Given the description of an element on the screen output the (x, y) to click on. 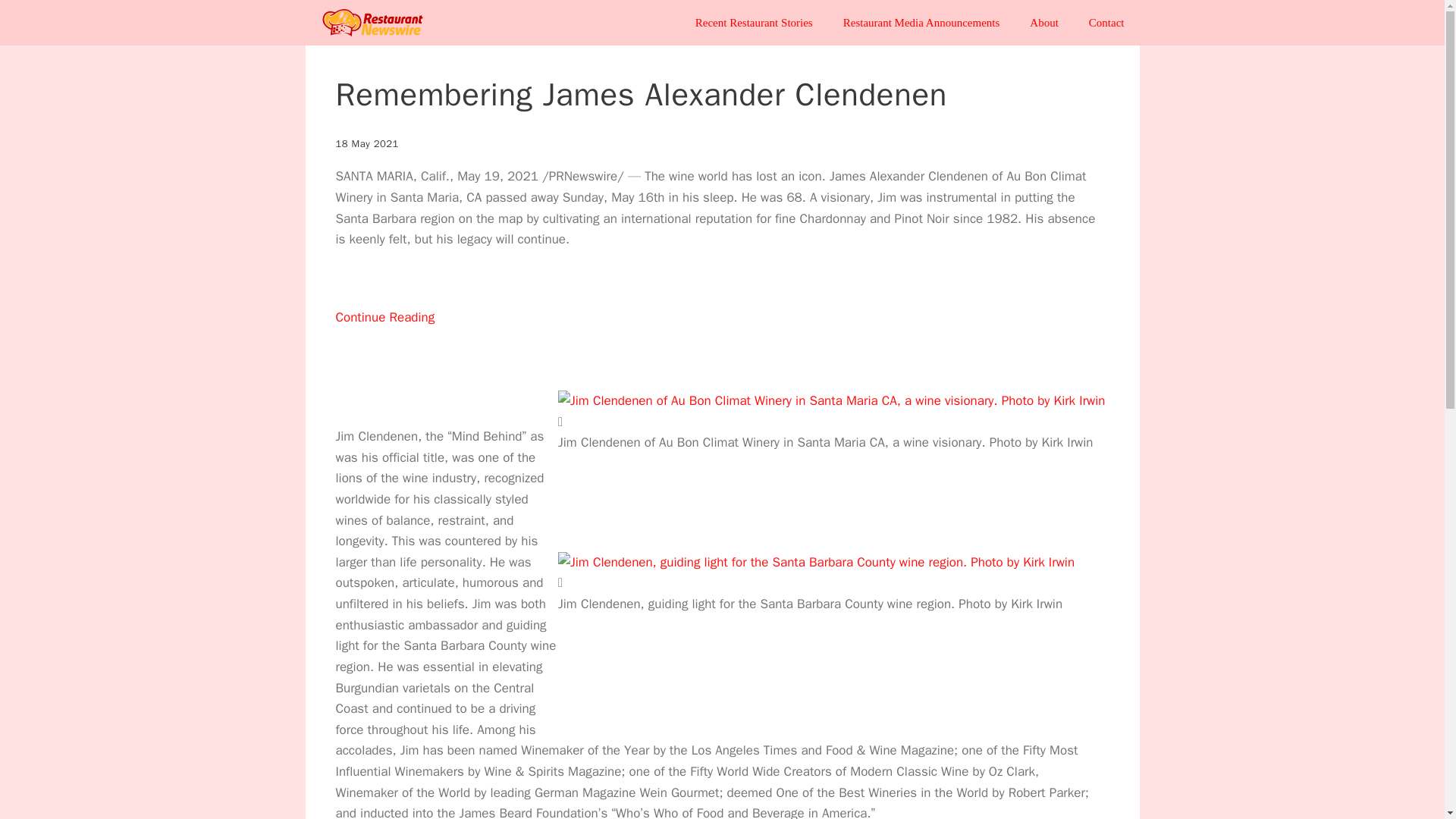
Continue Reading (383, 337)
Continue Reading (383, 337)
Contact (1107, 22)
Restaurant Media Announcements (921, 22)
About (1044, 22)
Restaurant Newswire (371, 22)
Recent Restaurant Stories (753, 22)
Restaurant Newswire (375, 22)
